Given the description of an element on the screen output the (x, y) to click on. 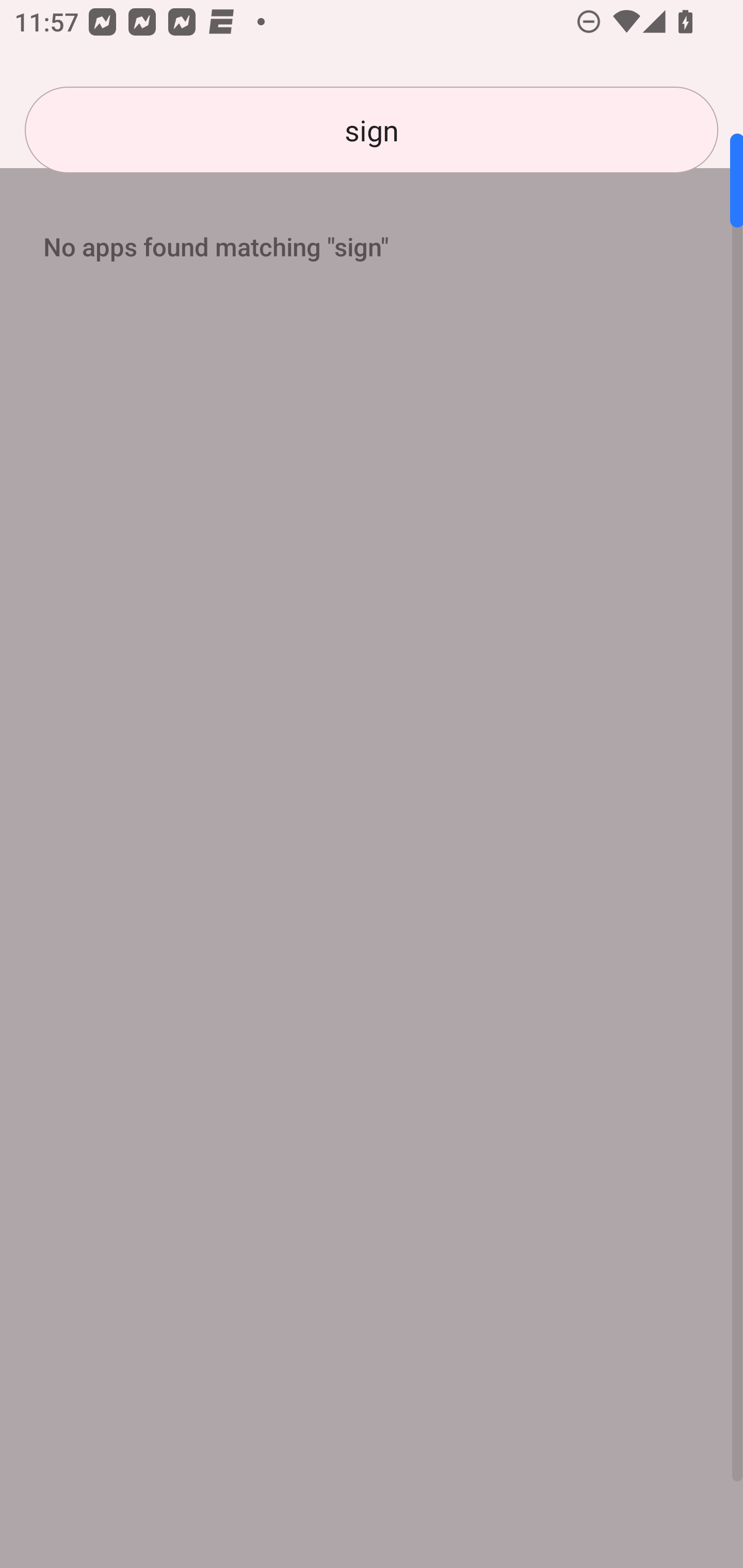
sign (371, 130)
